Given the description of an element on the screen output the (x, y) to click on. 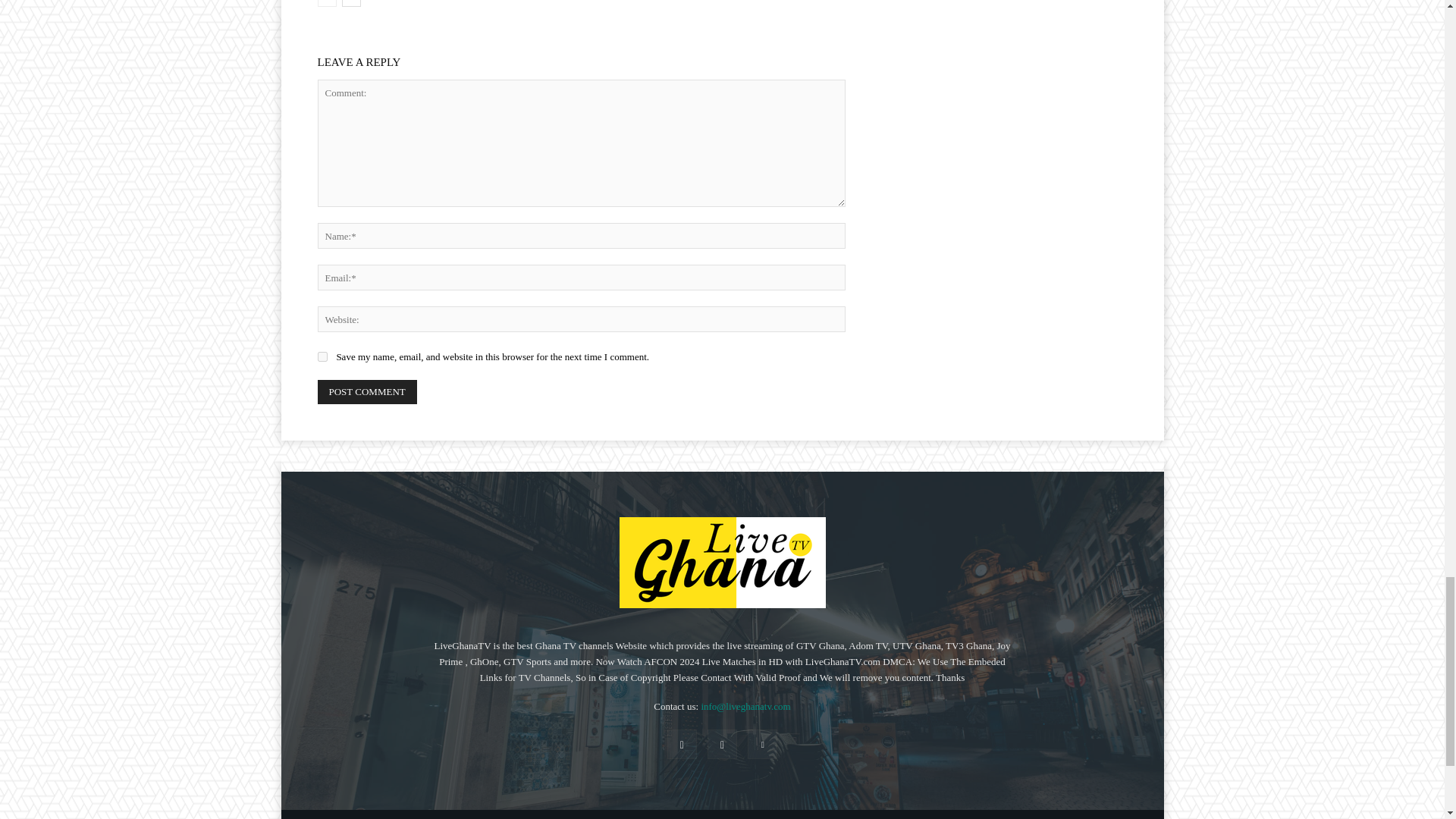
Post Comment (366, 392)
yes (321, 356)
